Given the description of an element on the screen output the (x, y) to click on. 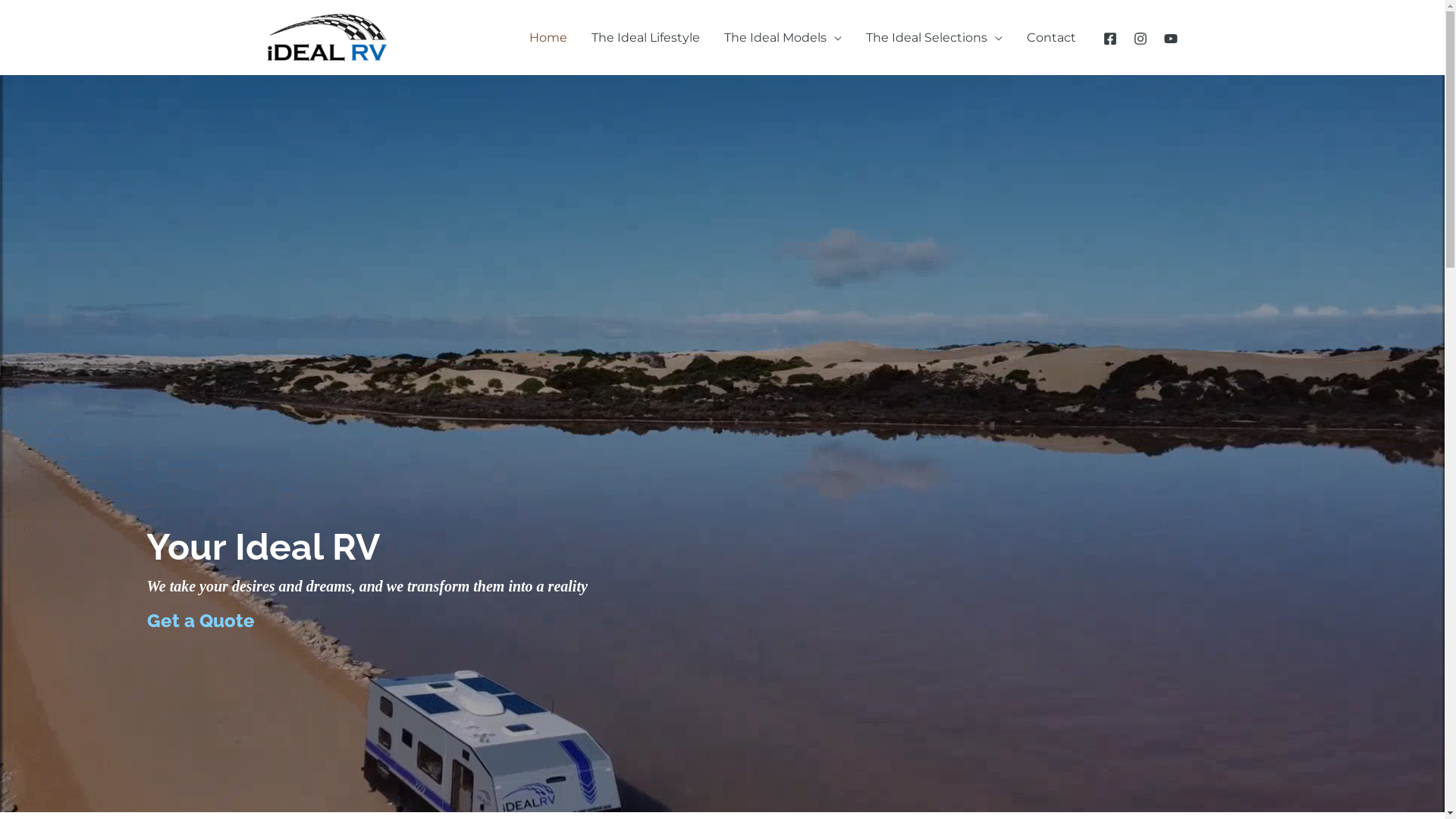
Home Element type: text (548, 36)
Contact Element type: text (1051, 36)
The Ideal Models Element type: text (782, 36)
The Ideal Lifestyle Element type: text (645, 36)
The Ideal Selections Element type: text (933, 36)
Get a Quote Element type: text (200, 620)
